Given the description of an element on the screen output the (x, y) to click on. 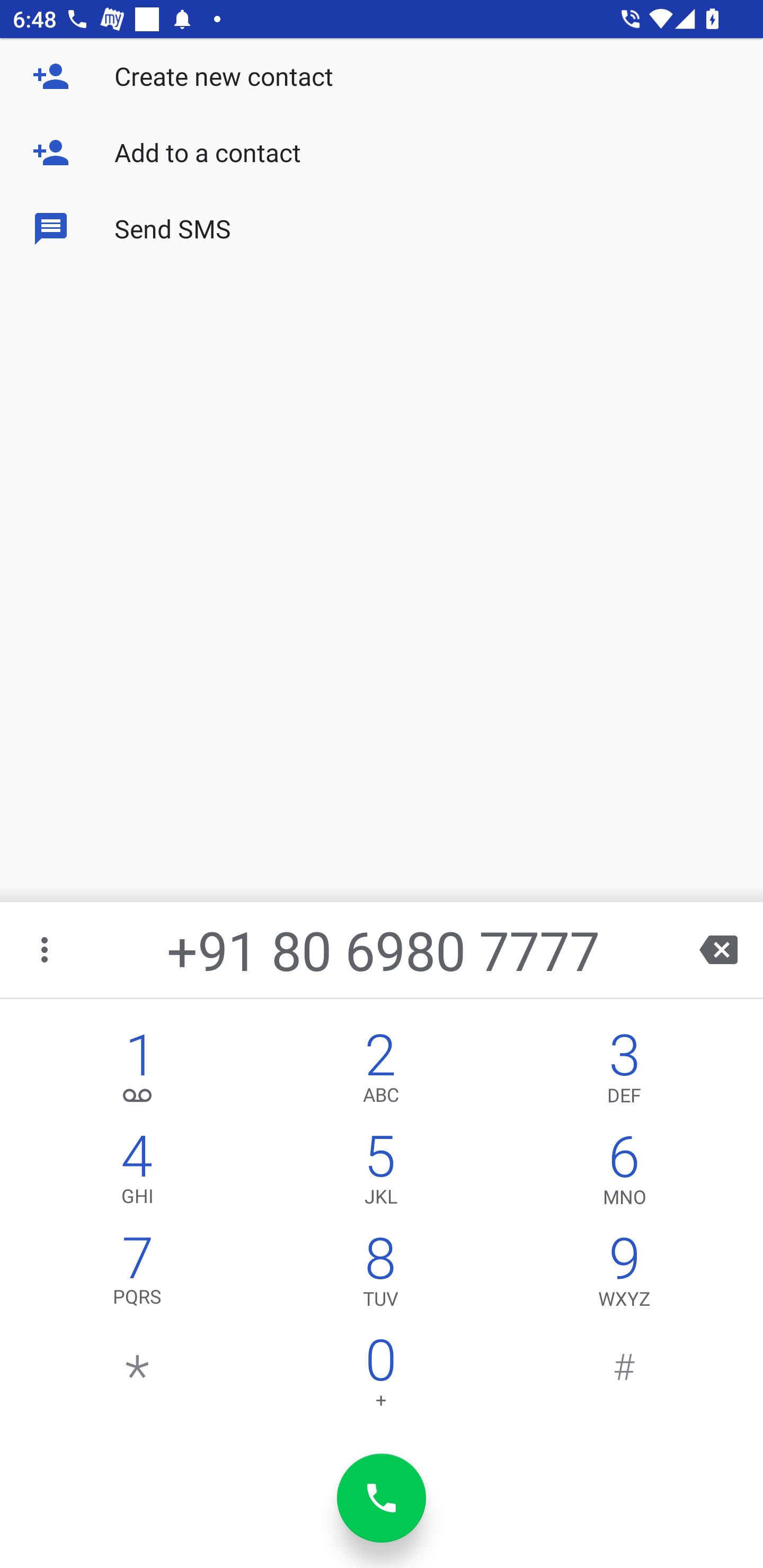
Create new contact (381, 75)
Add to a contact (381, 152)
Send SMS (381, 228)
+91 80 6980 7777 (382, 949)
backspace (718, 949)
More options (45, 949)
1, 1 (137, 1071)
2,ABC 2 ABC (380, 1071)
3,DEF 3 DEF (624, 1071)
4,GHI 4 GHI (137, 1173)
5,JKL 5 JKL (380, 1173)
6,MNO 6 MNO (624, 1173)
7,PQRS 7 PQRS (137, 1275)
8,TUV 8 TUV (380, 1275)
9,WXYZ 9 WXYZ (624, 1275)
* (137, 1377)
0 0 + (380, 1377)
# (624, 1377)
dial (381, 1497)
